Given the description of an element on the screen output the (x, y) to click on. 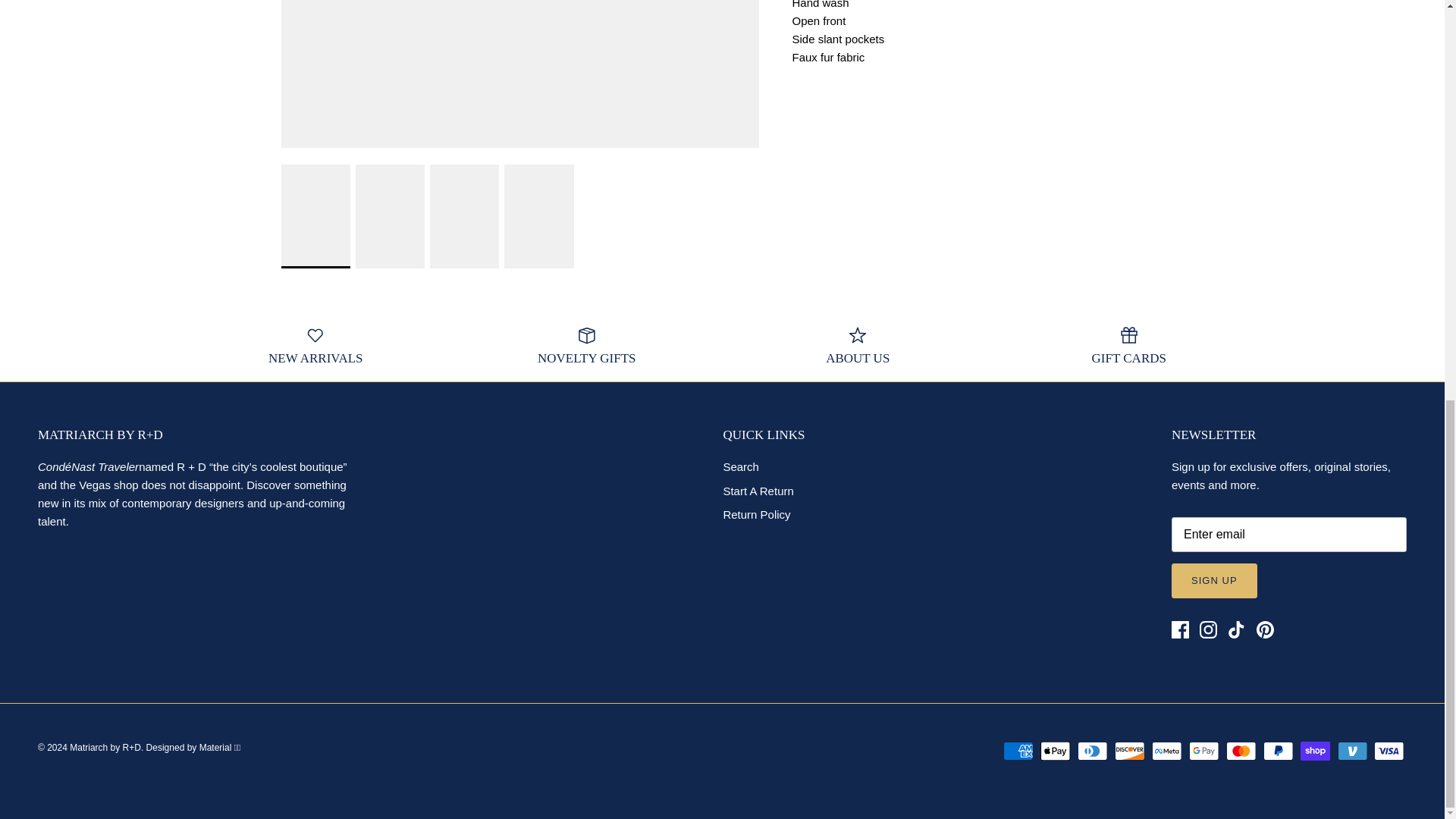
Discover (1129, 751)
Apple Pay (1055, 751)
Facebook (1180, 630)
Instagram (1208, 630)
American Express (1018, 751)
Diners Club (1092, 751)
Pinterest (1263, 630)
